Given the description of an element on the screen output the (x, y) to click on. 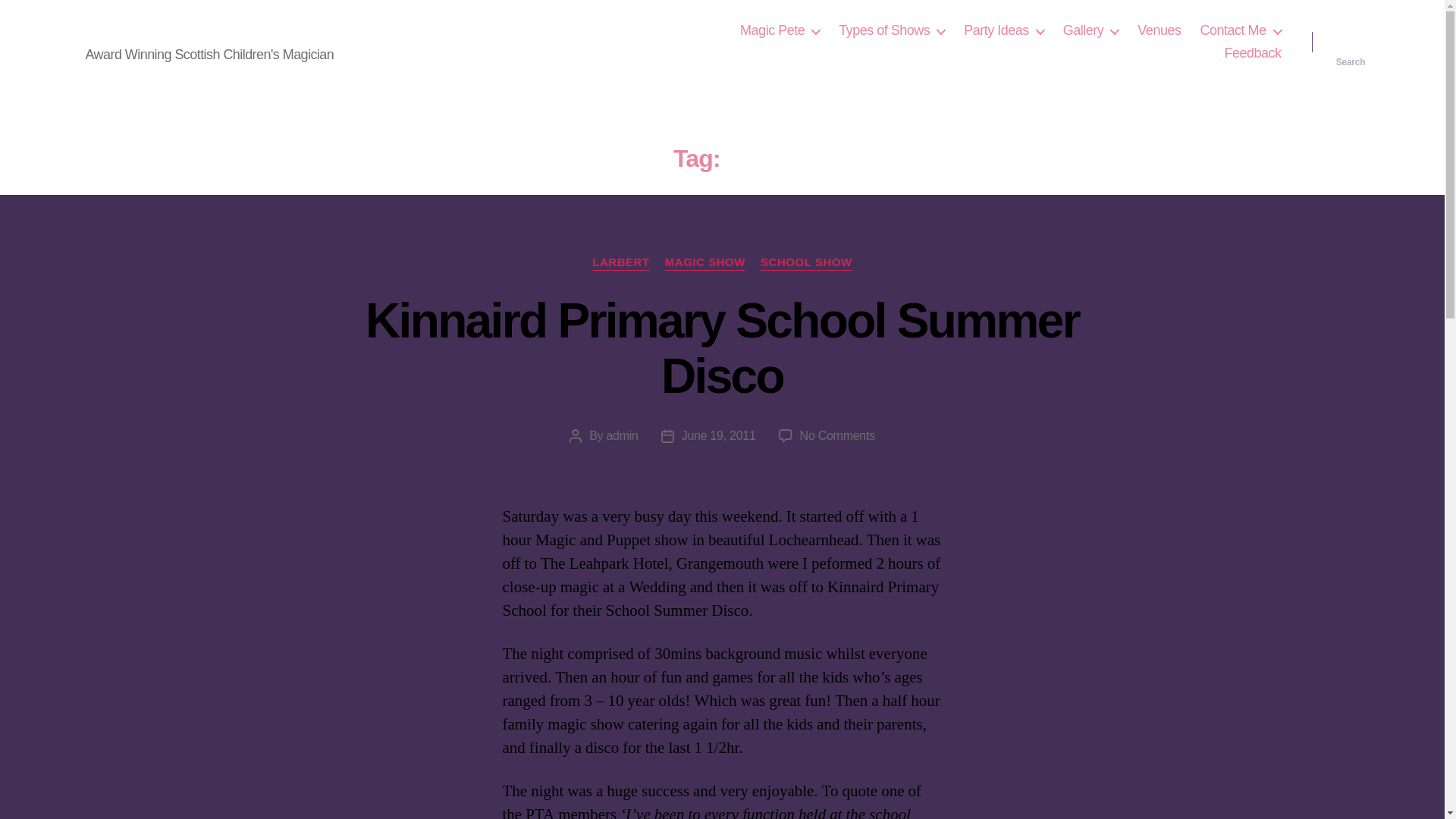
Search (1350, 41)
Magic Pete (779, 30)
Types of Shows (891, 30)
Feedback (1252, 53)
Party Ideas (1003, 30)
Magic Pete Magician and Children's Entertainer (272, 30)
Venues (1158, 30)
Gallery (1090, 30)
Contact Me (1240, 30)
